Given the description of an element on the screen output the (x, y) to click on. 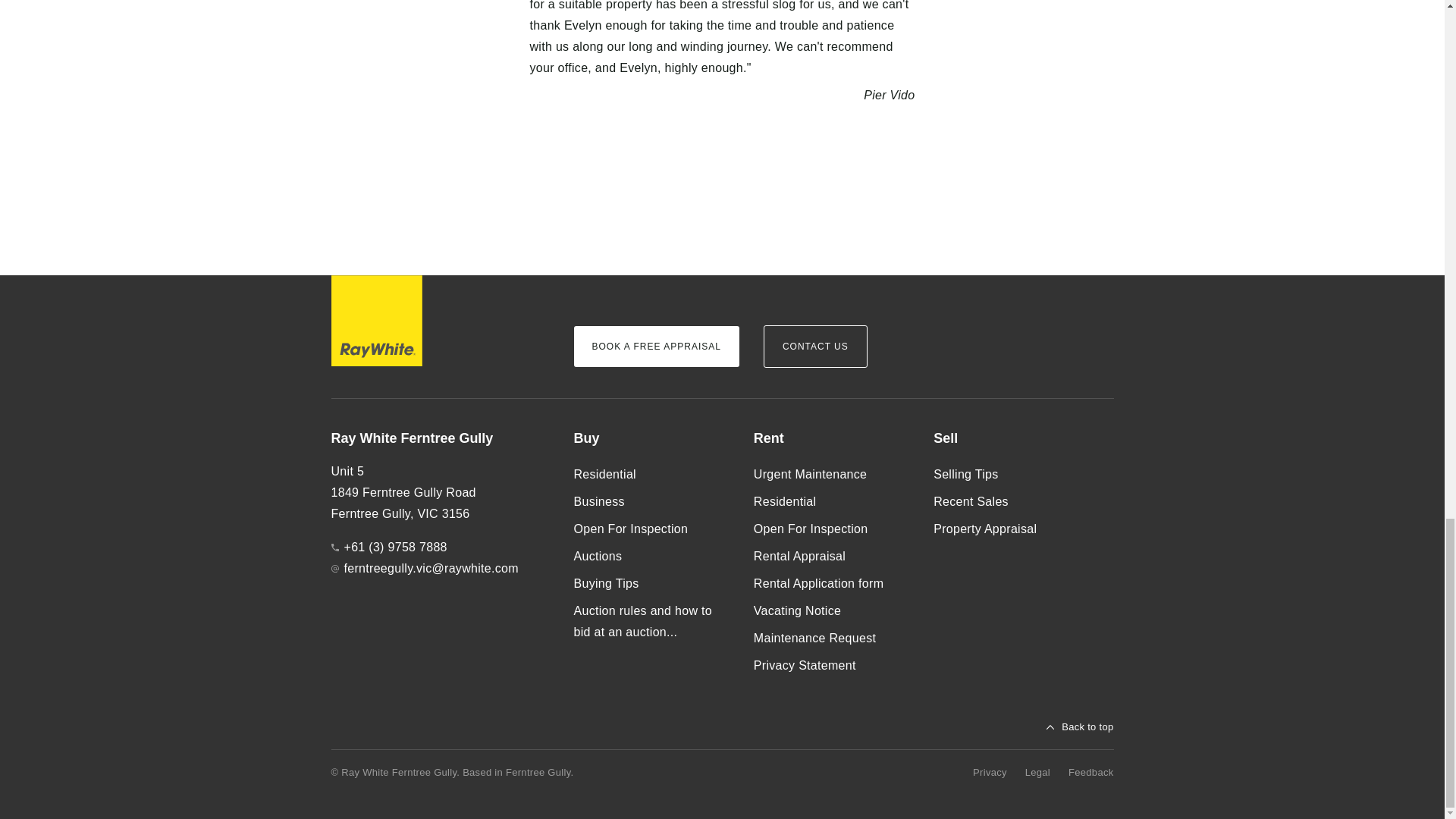
Rental Appraisal (831, 556)
Buying Tips (651, 583)
Feedback (1090, 772)
Privacy Statement (831, 665)
Back to top (1079, 726)
Property Appraisal (1011, 528)
Urgent Maintenance (831, 474)
BOOK A FREE APPRAISAL (655, 345)
Vacating Notice (831, 610)
CONTACT US (814, 346)
